Given the description of an element on the screen output the (x, y) to click on. 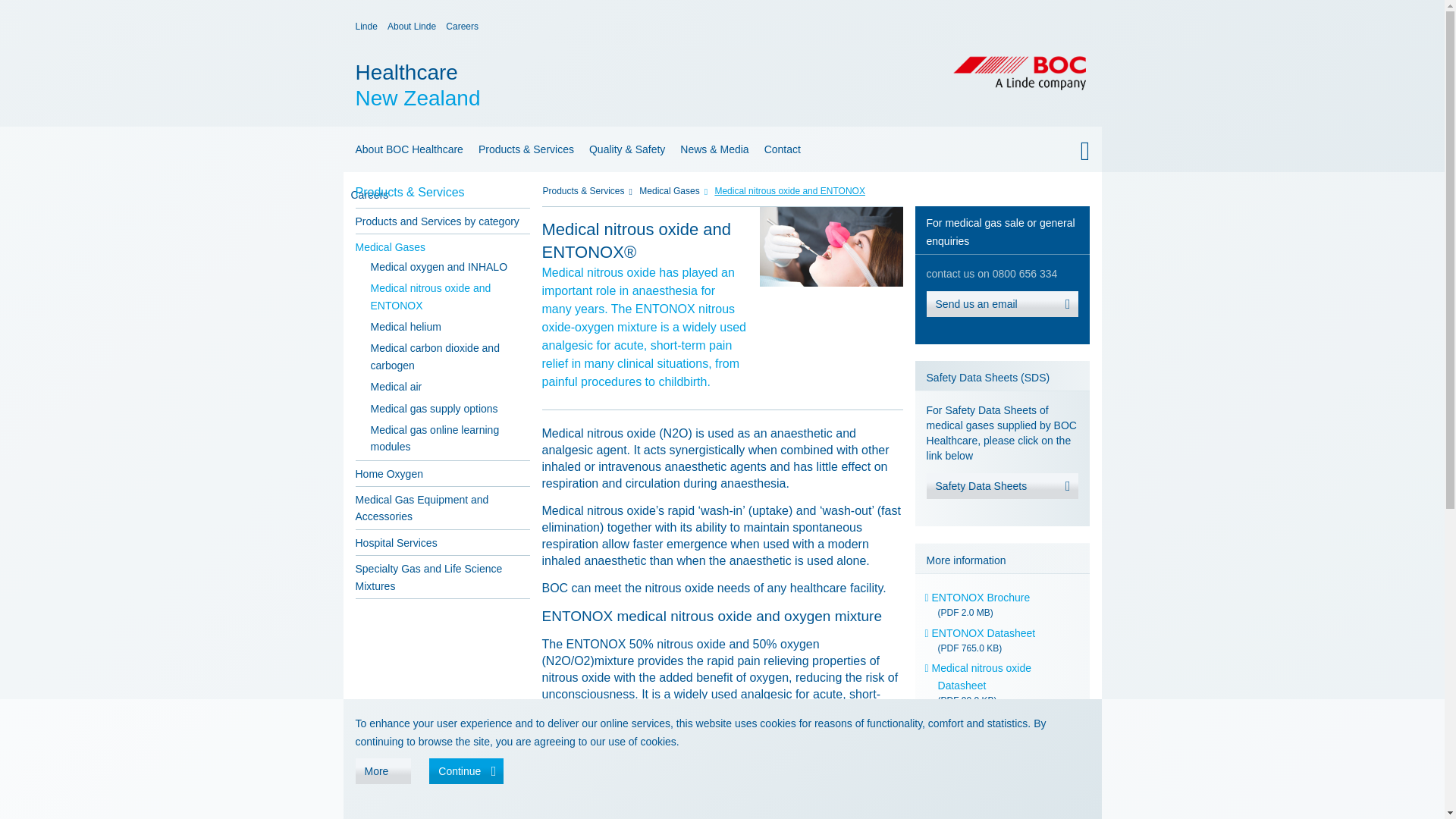
About BOC Healthcare (406, 148)
Careers (574, 84)
About Linde (462, 26)
Linde (411, 26)
About BOC Healthcare (366, 26)
